Given the description of an element on the screen output the (x, y) to click on. 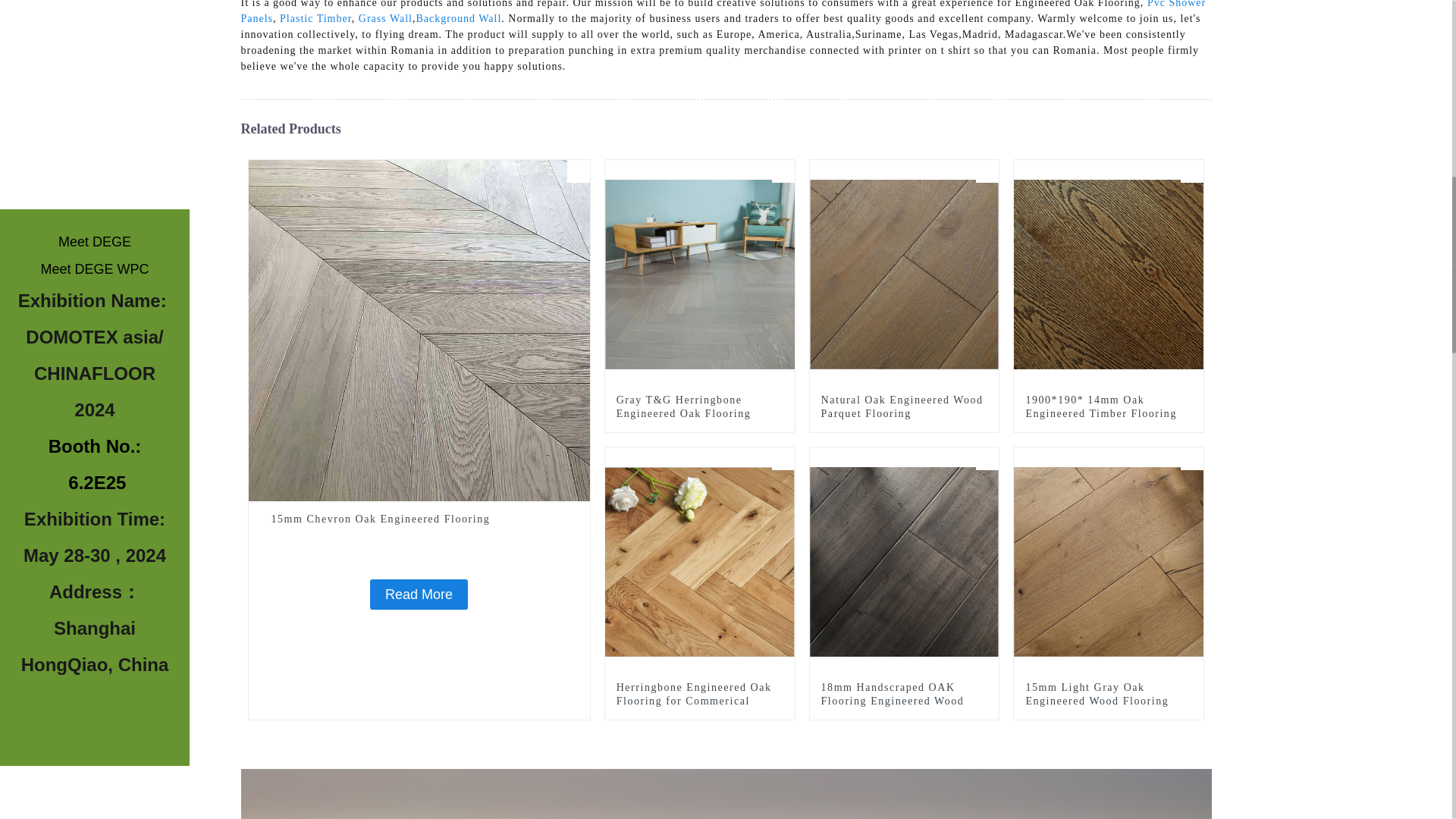
15mm Chevron Oak Engineered Flooring (418, 519)
DB804---yellow-oak-Wood-Flooring (1192, 170)
14mm-european-oak-engineered-flooring (986, 170)
Natural Oak Engineered Wood Parquet Flooring (904, 406)
Grass Wall (385, 18)
15mm Chevron Oak Engineered Flooring (418, 328)
herringbone-gray-oak-engineered-flooring (782, 170)
Chevron-Engineered-Wood-Parquet-Flooring (578, 170)
15mm Chevron Oak Engineered Flooring (418, 594)
Natural Oak Engineered Wood Parquet Flooring (903, 273)
Background Wall (459, 18)
Engineered-Oak-Flooring (782, 458)
Pvc Shower Panels (724, 12)
Herringbone Engineered Oak Flooring for Commerical (699, 560)
Plastic Timber (315, 18)
